Given the description of an element on the screen output the (x, y) to click on. 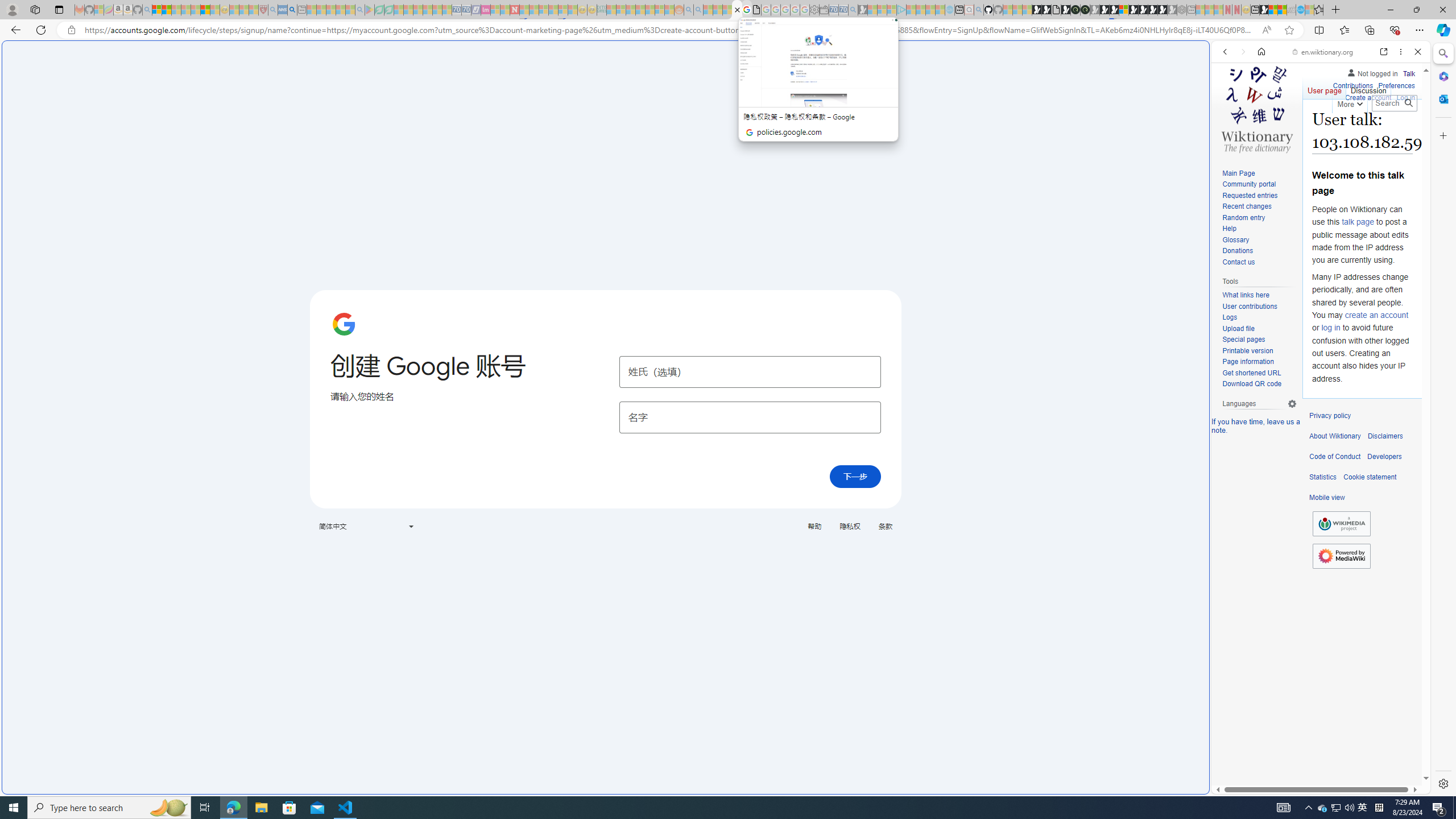
Get shortened URL (1251, 372)
Contact us (1238, 261)
Create account (1367, 98)
